Given the description of an element on the screen output the (x, y) to click on. 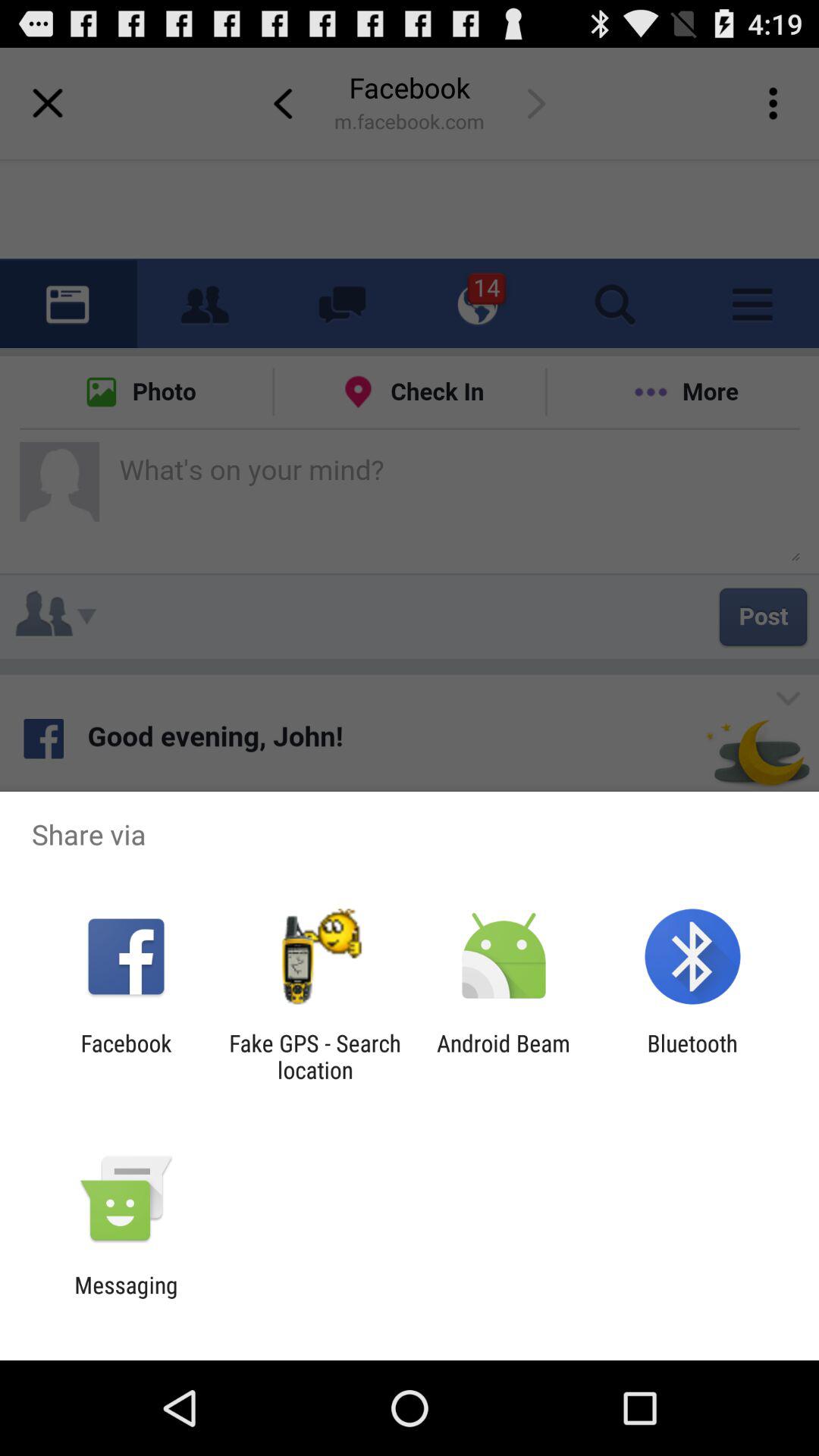
turn off the app next to the android beam app (314, 1056)
